Given the description of an element on the screen output the (x, y) to click on. 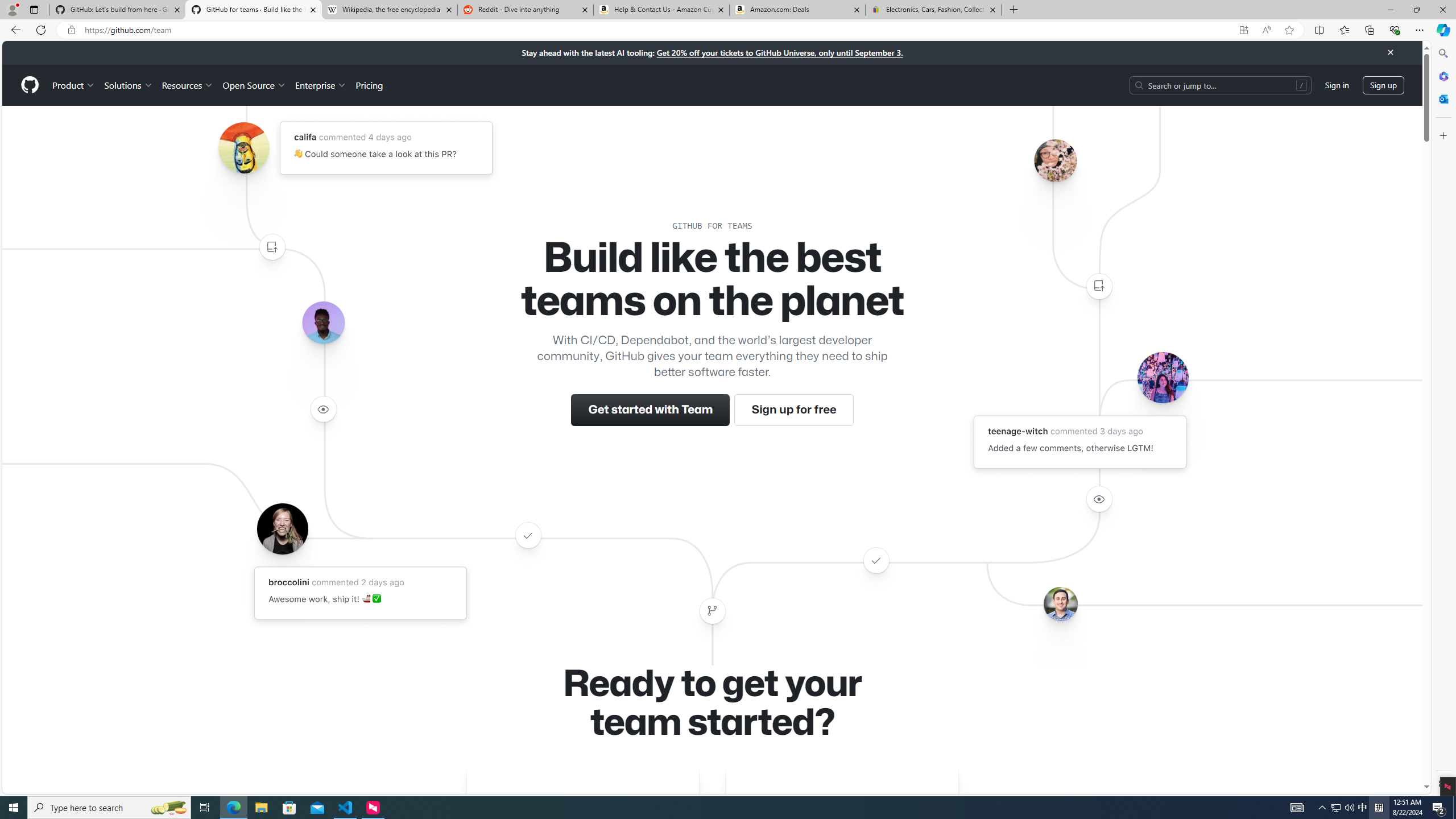
Solutions (128, 84)
Avatar of the user teenage-witch (1162, 376)
Resources (187, 84)
Solutions (128, 84)
Class: color-fg-muted width-full (711, 610)
Pricing (368, 84)
Sign up (1382, 84)
